Given the description of an element on the screen output the (x, y) to click on. 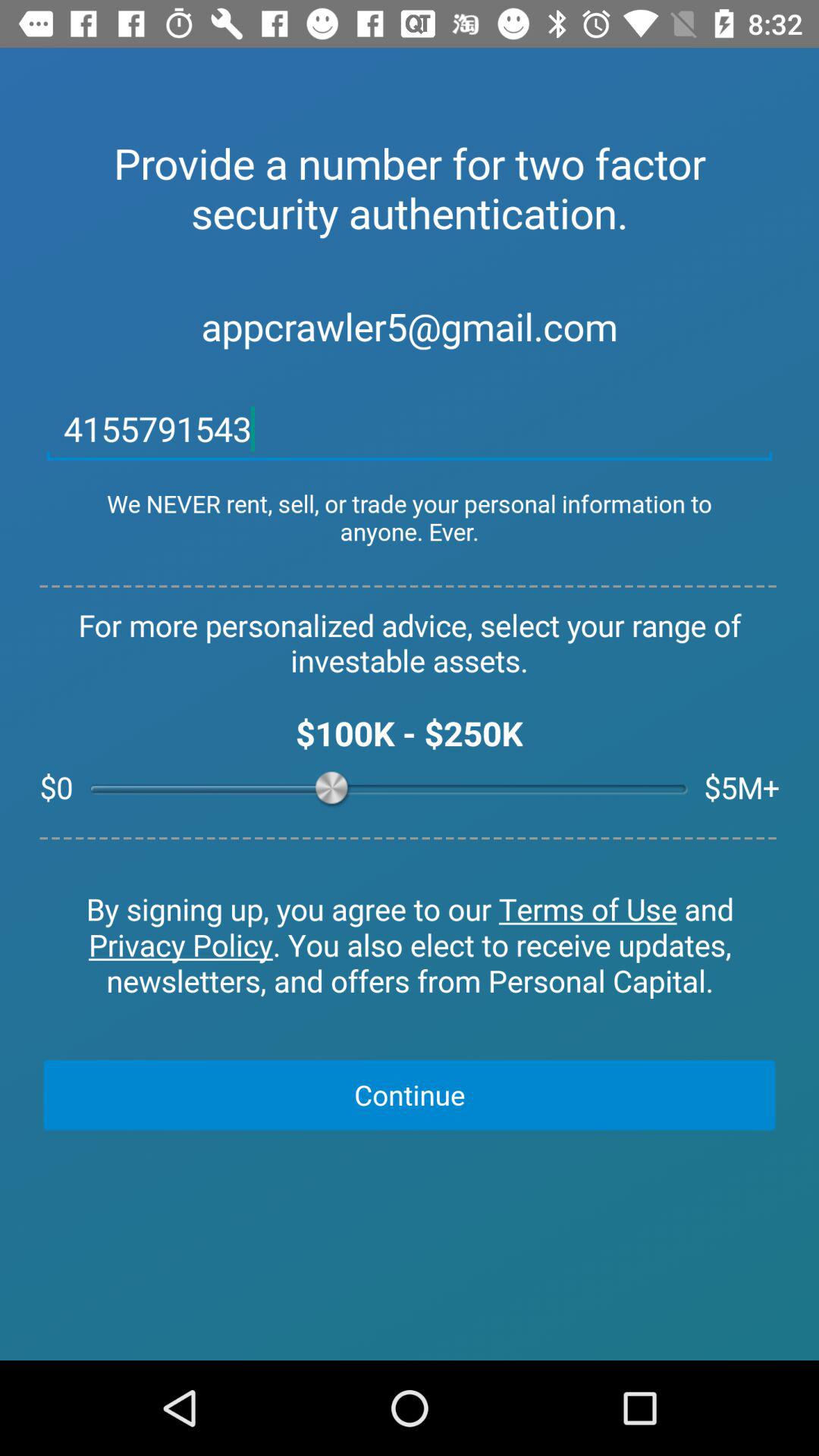
confirm acceptance of terms of use (409, 946)
